Given the description of an element on the screen output the (x, y) to click on. 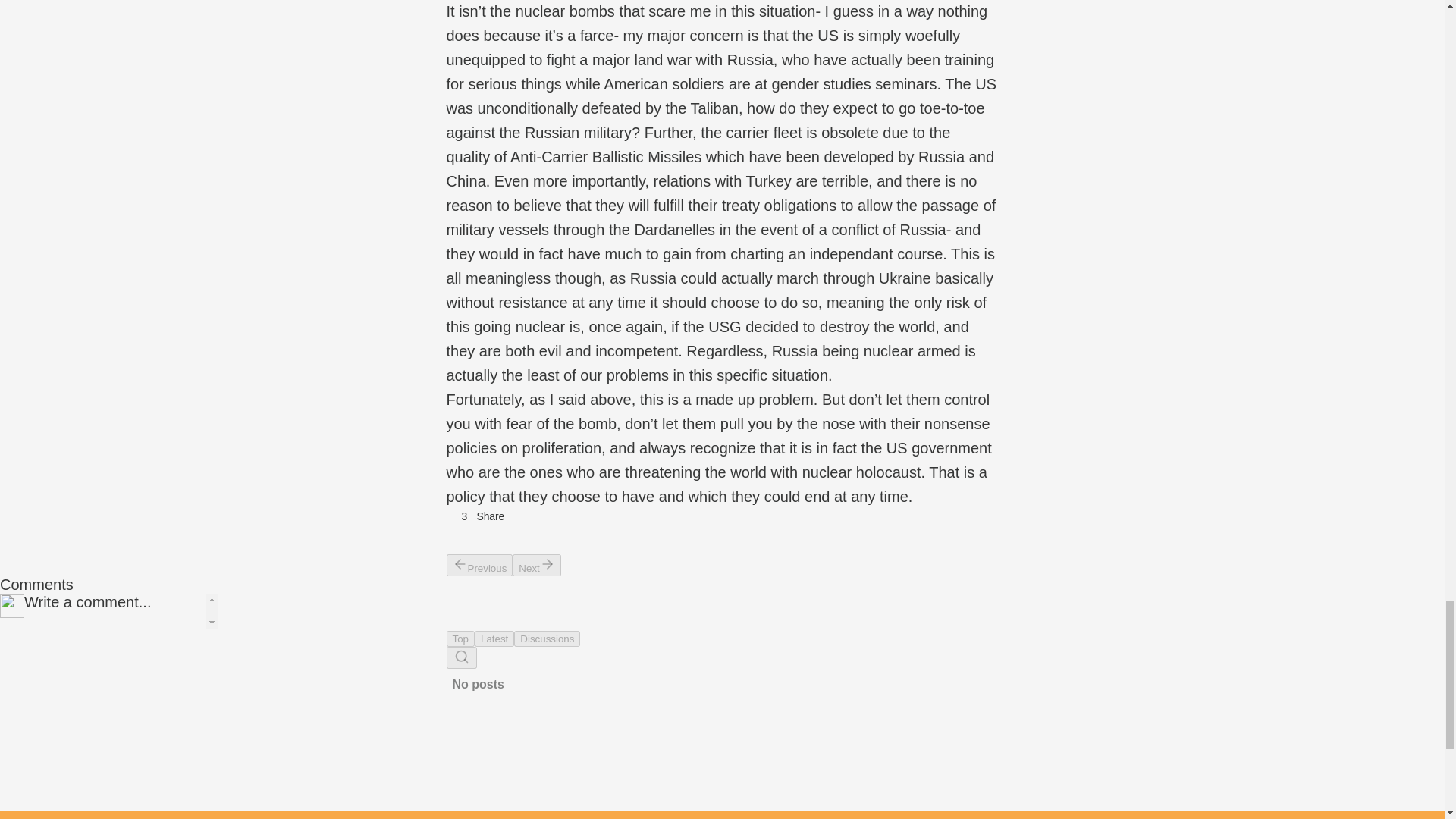
Discussions (546, 638)
Share (489, 516)
Latest (493, 638)
3 (456, 516)
Top (459, 638)
Next (536, 565)
Previous (478, 565)
